Given the description of an element on the screen output the (x, y) to click on. 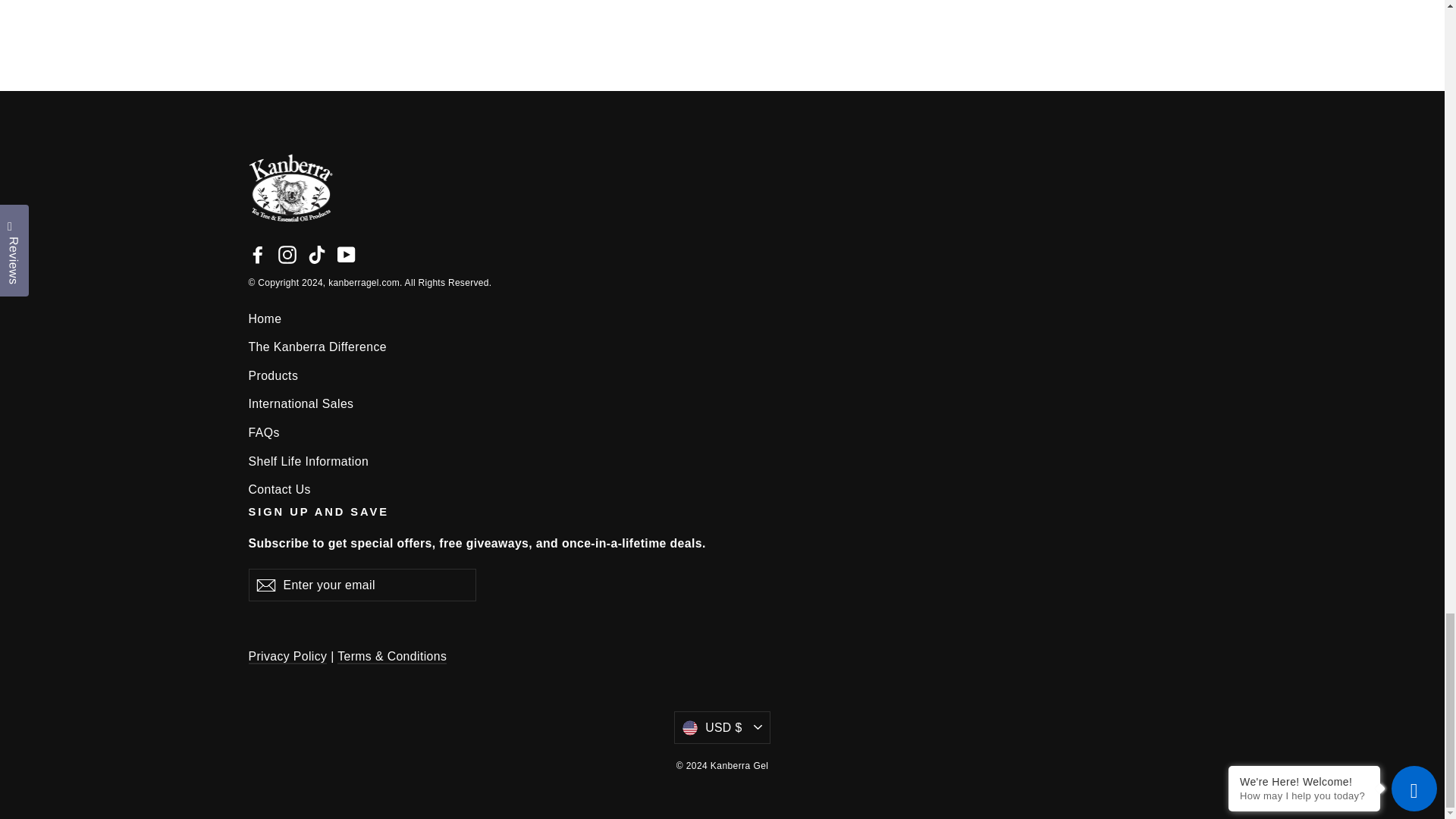
Privacy Policy (287, 657)
Home (722, 318)
FAQs (722, 432)
International Sales (722, 403)
The Kanberra Difference (722, 346)
Products (722, 375)
